Given the description of an element on the screen output the (x, y) to click on. 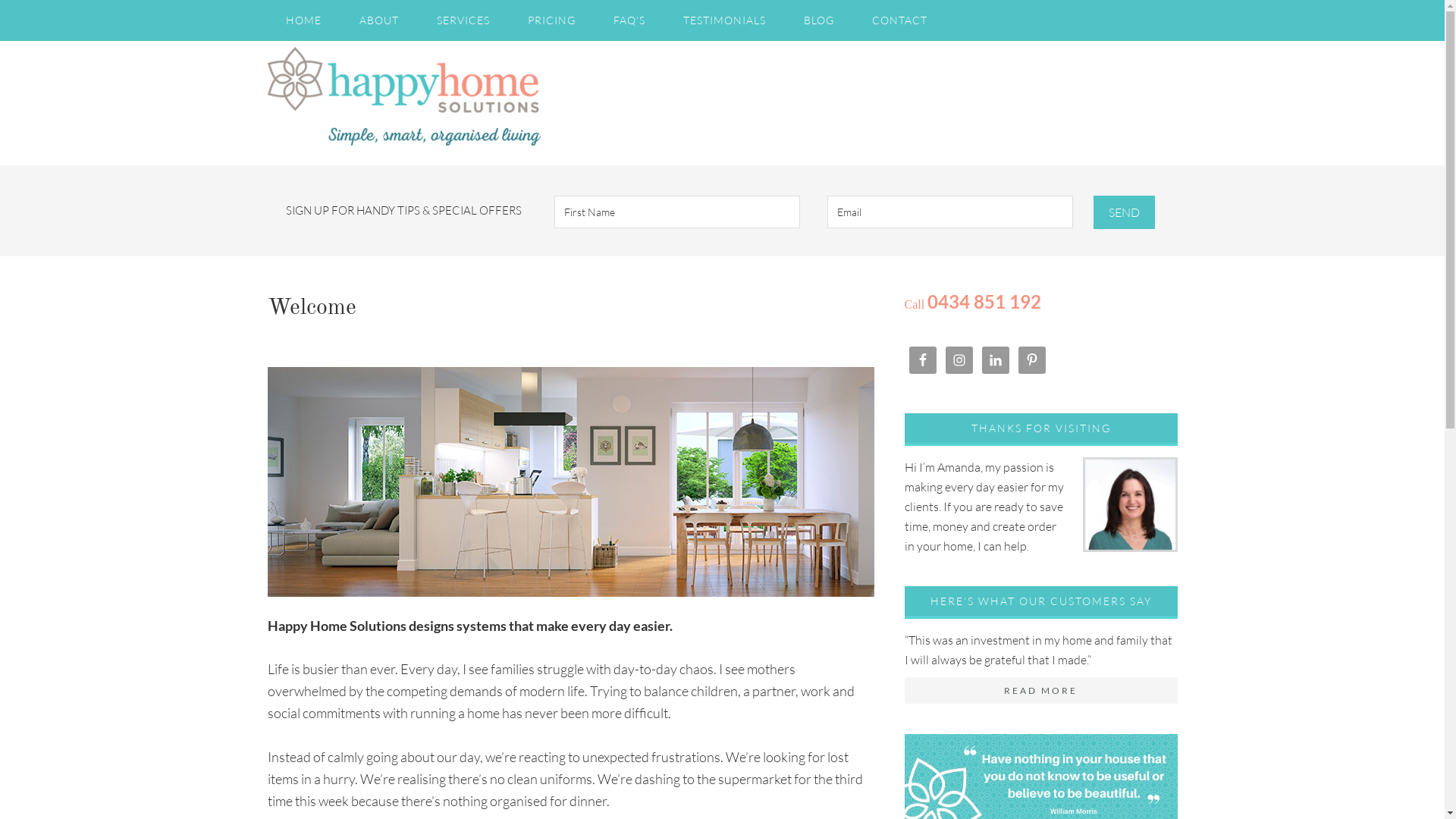
ABOUT Element type: text (379, 20)
BLOG Element type: text (818, 20)
TESTIMONIALS Element type: text (723, 20)
Skip to primary navigation Element type: text (0, 0)
PRICING Element type: text (551, 20)
CONTACT Element type: text (899, 20)
SERVICES Element type: text (463, 20)
READ MORE Element type: text (1039, 690)
HOME Element type: text (302, 20)
Send Element type: text (1123, 212)
